Given the description of an element on the screen output the (x, y) to click on. 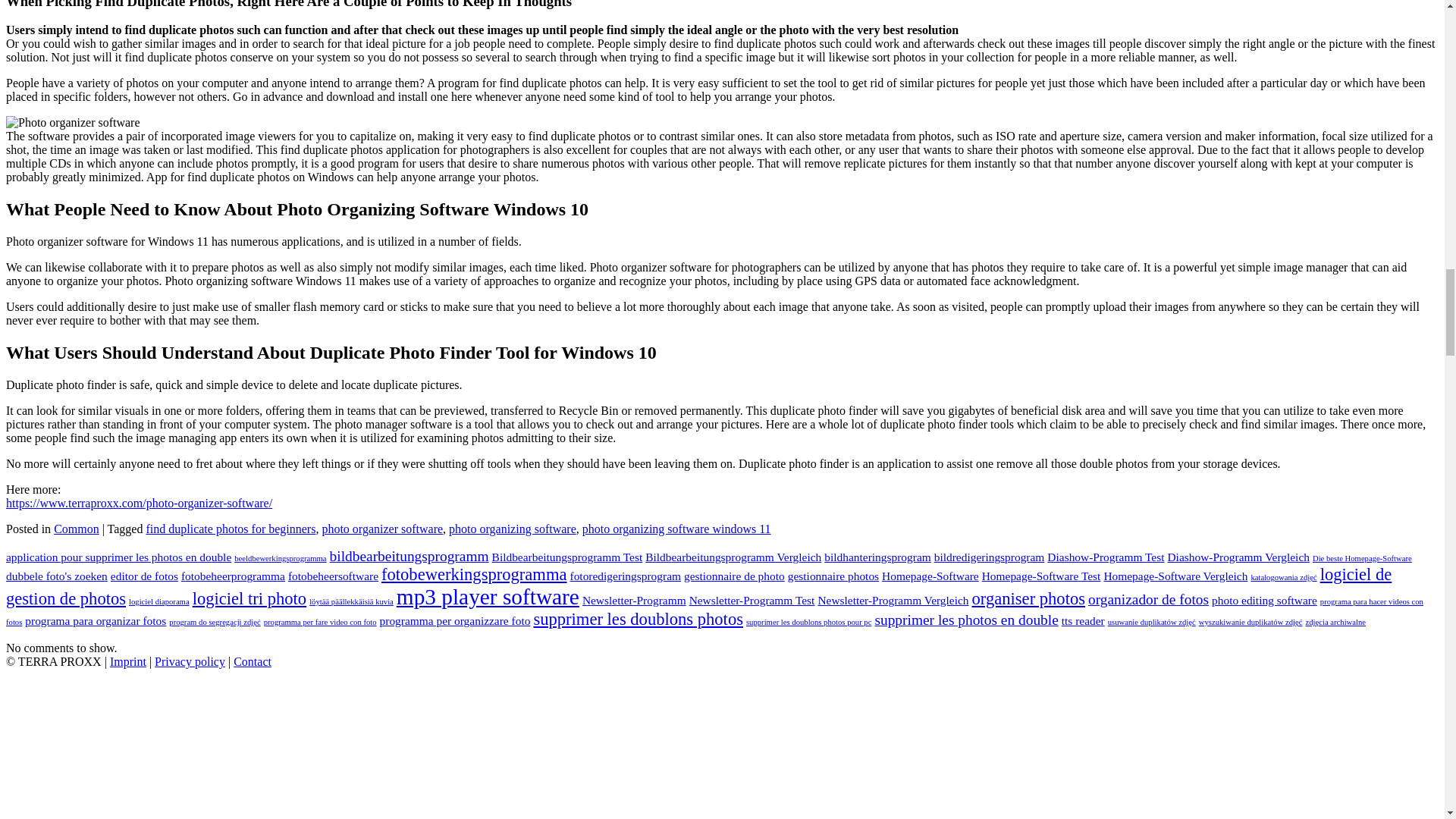
bildbearbeitungsprogramm (409, 555)
Bildbearbeitungsprogramm Vergleich (733, 556)
photo organizer software (381, 528)
find duplicate photos for beginners (230, 528)
application pour supprimer les photos en double (118, 556)
photo organizing software windows 11 (676, 528)
Bildbearbeitungsprogramm Test (567, 556)
Diashow-Programm Test (1104, 556)
Common (76, 528)
photo organizing software (512, 528)
